Given the description of an element on the screen output the (x, y) to click on. 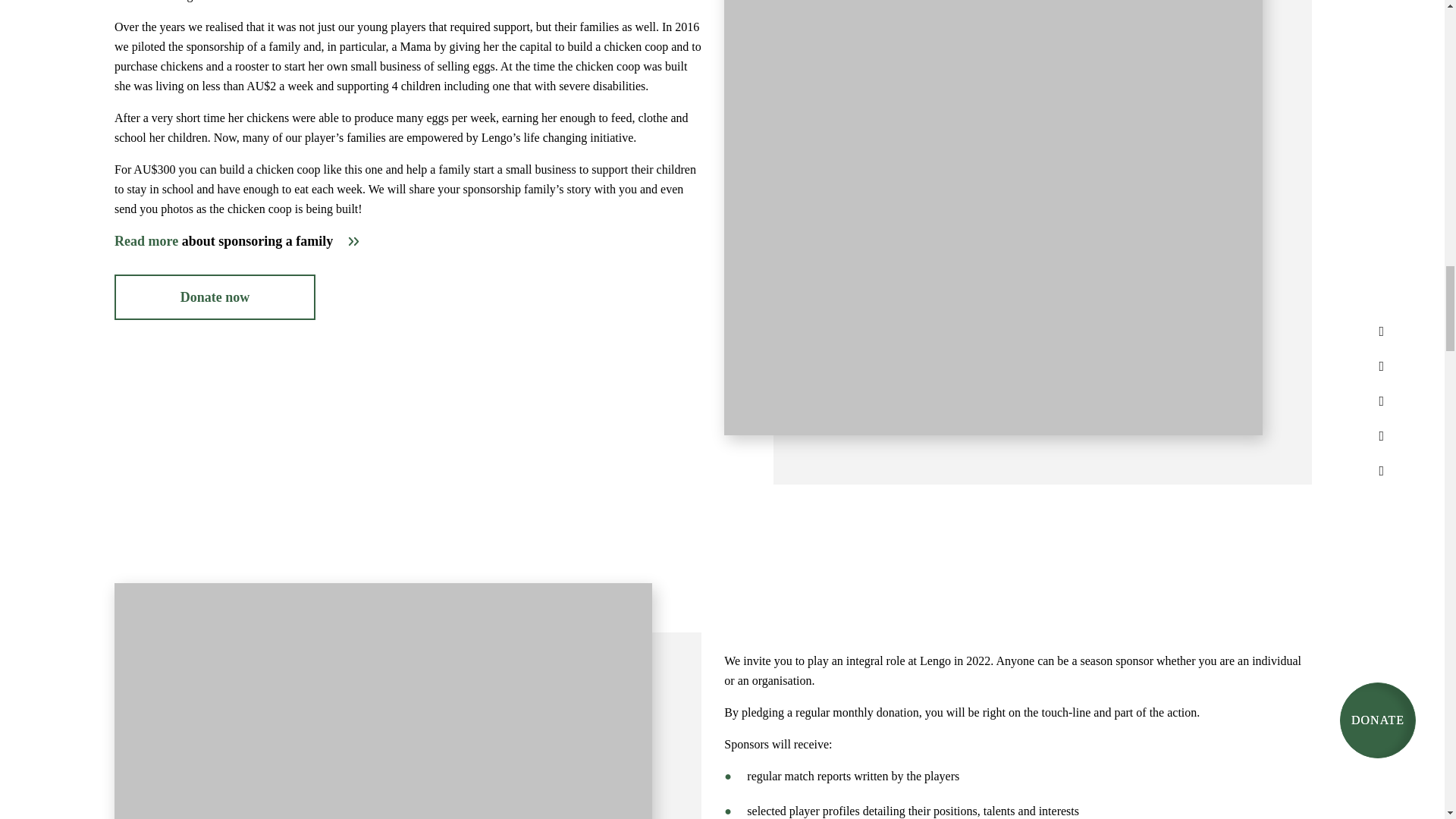
Read more about sponsoring a family (237, 240)
Donate now (215, 297)
